Given the description of an element on the screen output the (x, y) to click on. 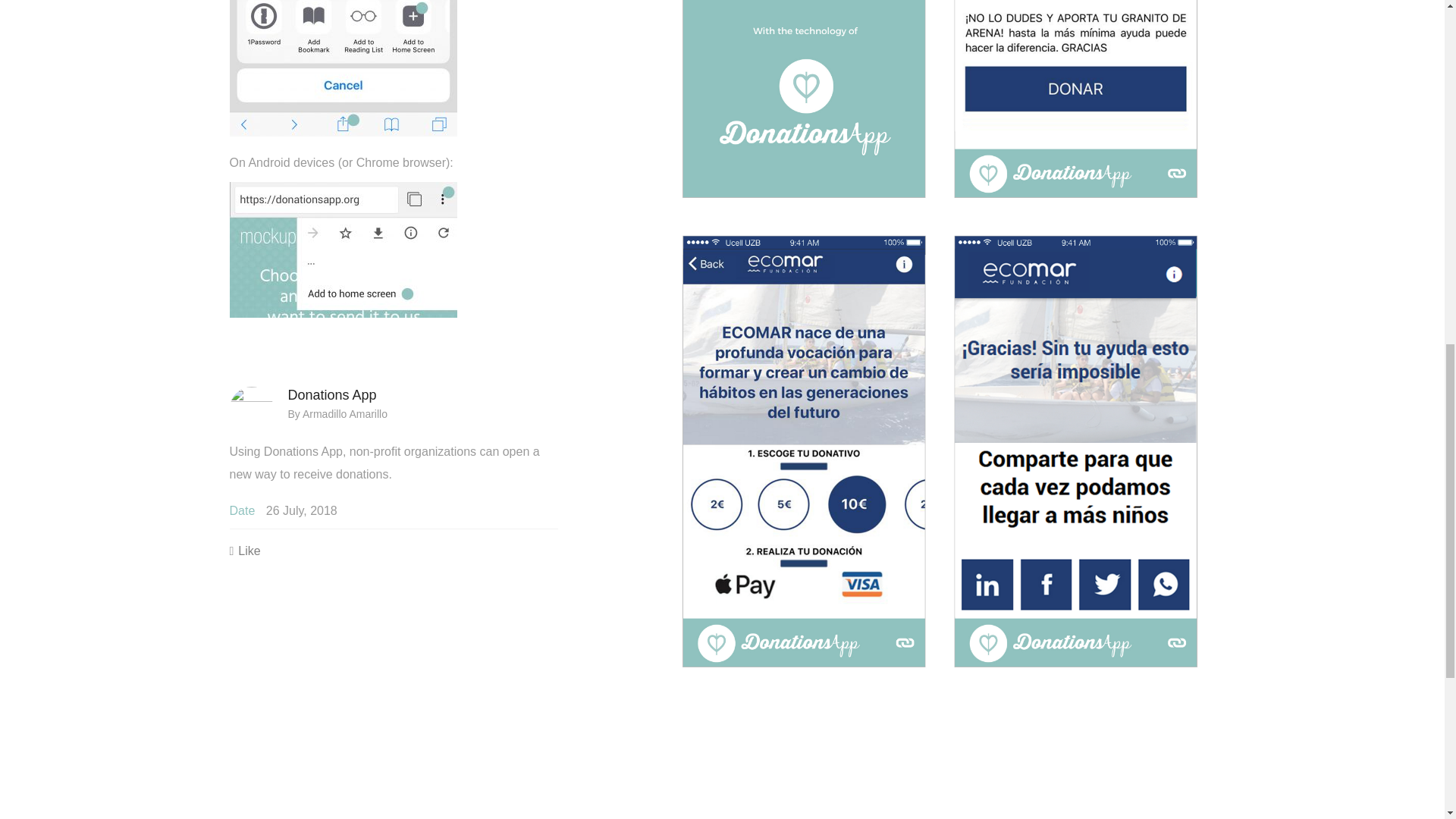
Like this (244, 550)
